Given the description of an element on the screen output the (x, y) to click on. 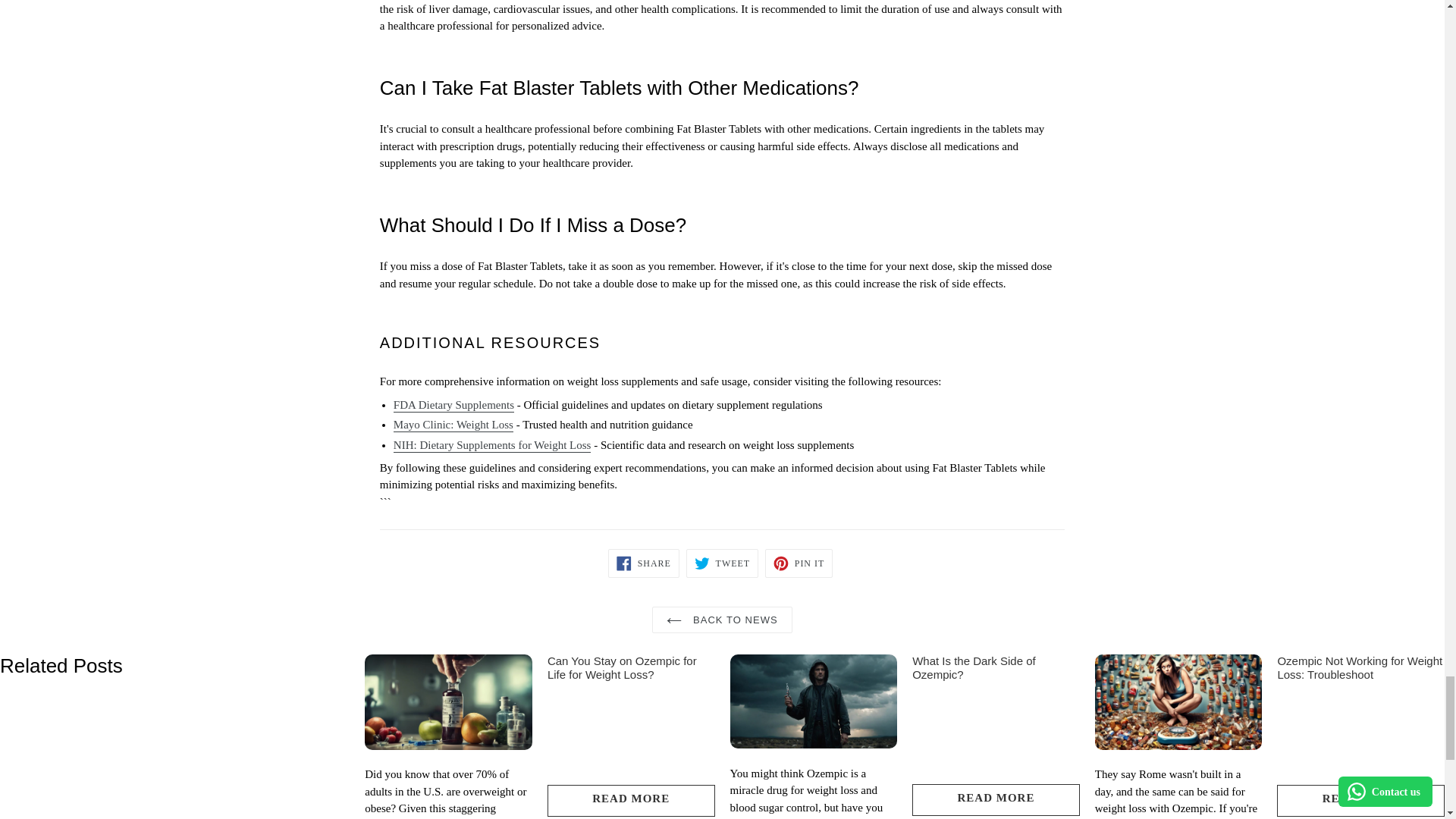
Share on Facebook (643, 563)
Tweet on Twitter (721, 563)
Pin on Pinterest (798, 563)
